Given the description of an element on the screen output the (x, y) to click on. 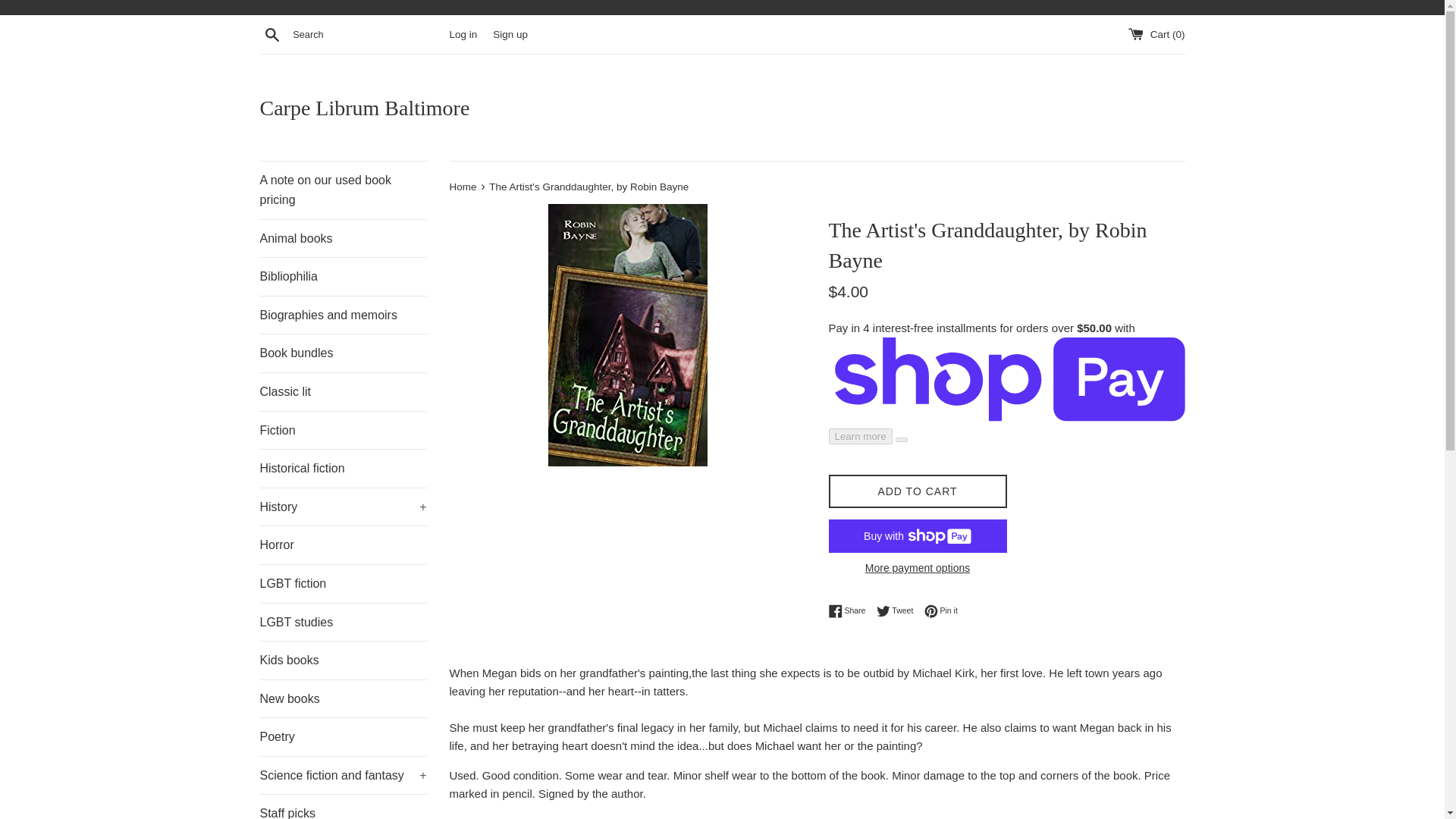
Historical fiction (342, 468)
A note on our used book pricing (342, 189)
LGBT studies (342, 622)
Staff picks (342, 806)
Log in (462, 34)
Back to the frontpage (463, 186)
Home (463, 186)
Tweet on Twitter (898, 611)
Pin on Pinterest (941, 611)
Book bundles (342, 353)
Search (271, 34)
Kids books (342, 660)
Sign up (510, 34)
Animal books (342, 238)
New books (342, 699)
